Given the description of an element on the screen output the (x, y) to click on. 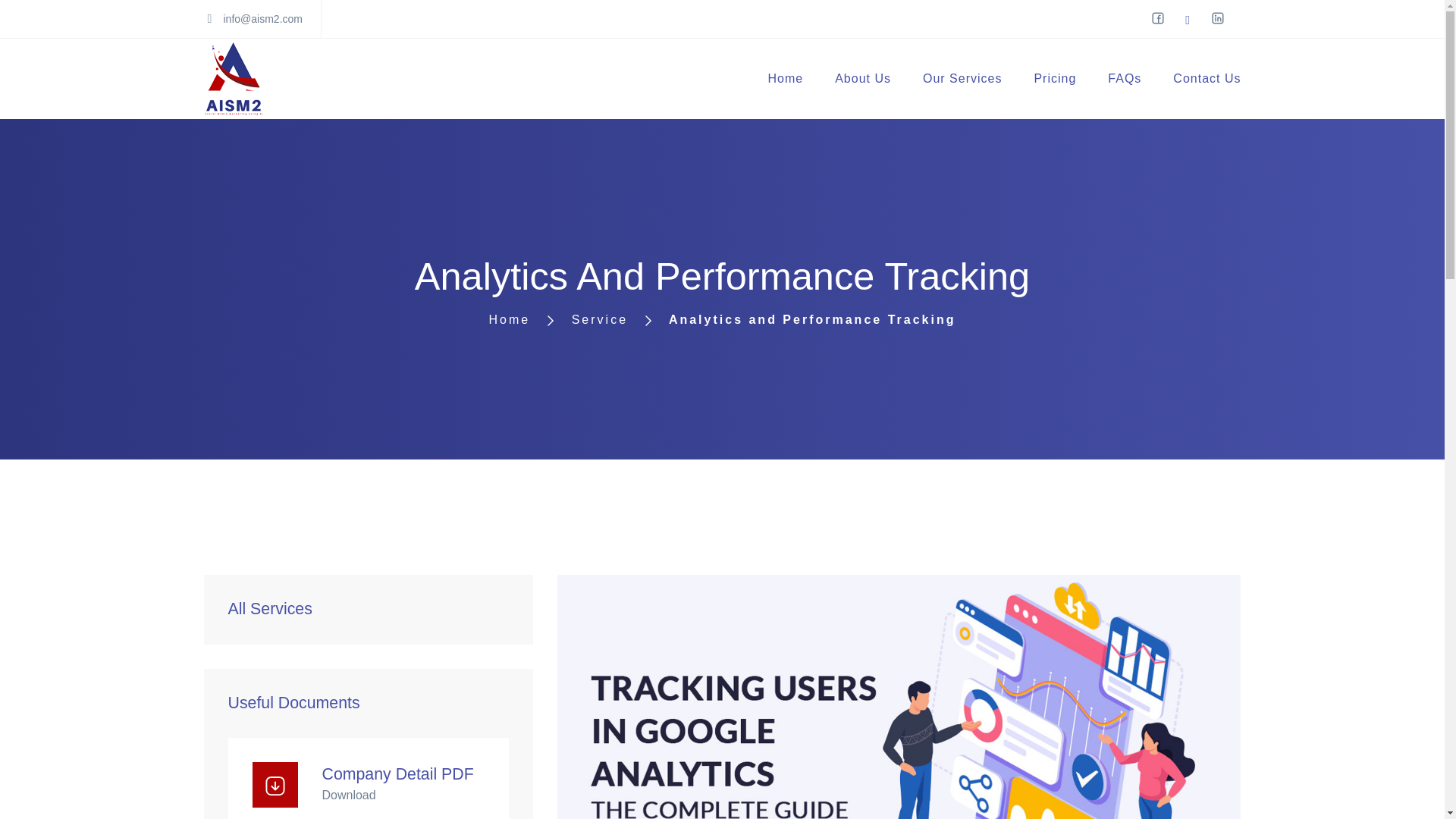
Download (348, 794)
Home (510, 318)
Our Services (962, 78)
Pricing (1054, 78)
Contact Us (1206, 78)
Service (587, 318)
Home (785, 78)
FAQs (1124, 78)
About Us (862, 78)
